Given the description of an element on the screen output the (x, y) to click on. 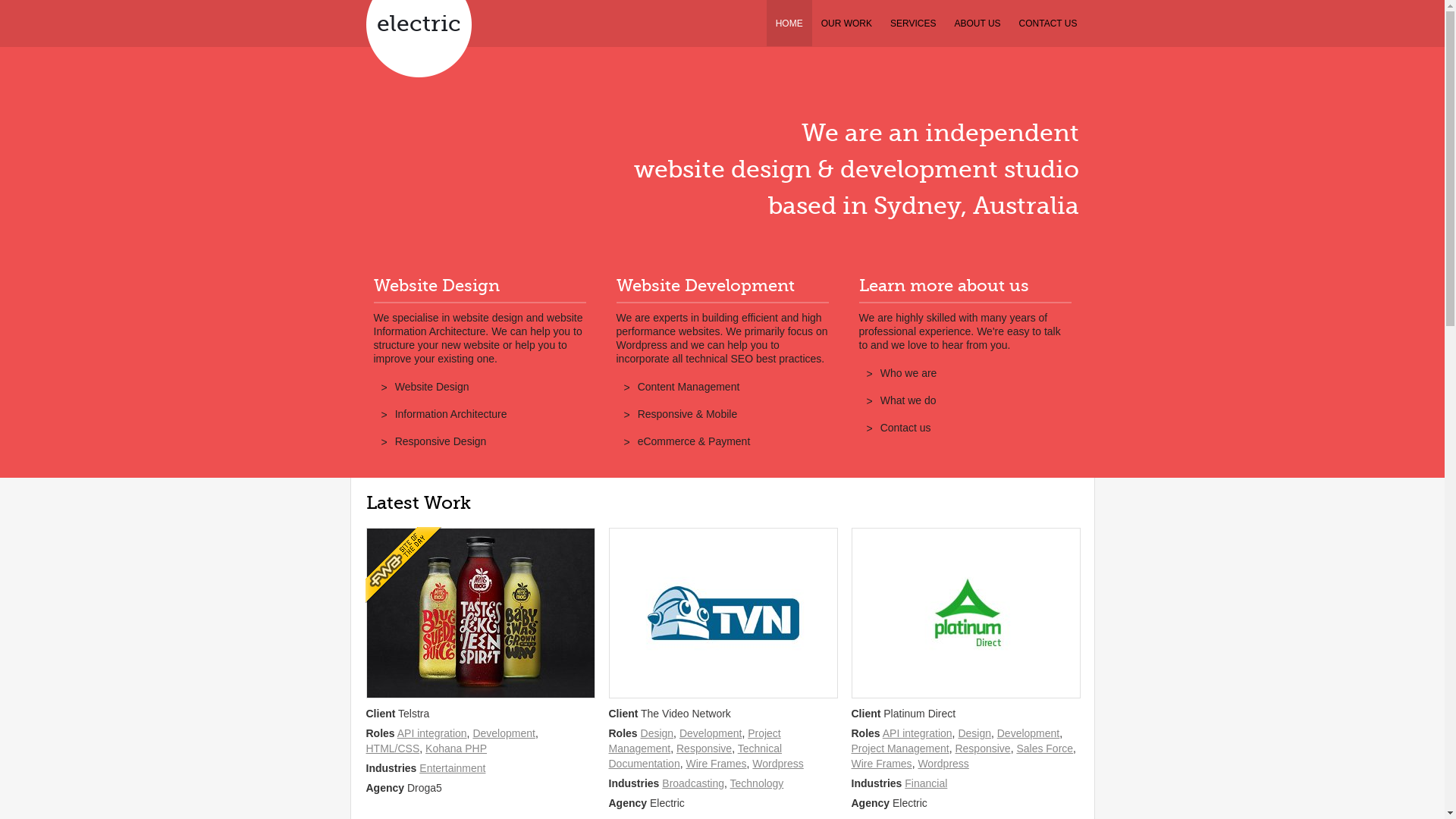
HOME Element type: text (789, 23)
API integration Element type: text (917, 733)
Technical Documentation Element type: text (694, 755)
Development Element type: text (710, 733)
Who we are Element type: text (908, 373)
Project Management Element type: text (899, 748)
API integration Element type: text (432, 733)
Wordpress Element type: text (777, 763)
Financial Element type: text (925, 783)
Contact us Element type: text (905, 427)
Entertainment Element type: text (452, 768)
Project Management Element type: text (694, 740)
Responsive Element type: text (982, 748)
eCommerce & Payment Element type: text (693, 441)
Broadcasting Element type: text (693, 783)
Technology Element type: text (757, 783)
electric Element type: text (418, 23)
Content Management Element type: text (688, 386)
Design Element type: text (974, 733)
Made by MOG Element type: hover (479, 612)
ABOUT US Element type: text (976, 23)
Responsive Element type: text (703, 748)
OUR WORK Element type: text (846, 23)
Responsive Design Element type: text (440, 441)
The Video Network Element type: hover (722, 612)
CONTACT US Element type: text (1048, 23)
Responsive & Mobile Element type: text (687, 413)
What we do Element type: text (908, 400)
Platinum Direct Element type: hover (964, 612)
Wordpress Element type: text (942, 763)
Website Design Element type: text (432, 386)
Sales Force Element type: text (1044, 748)
Development Element type: text (1028, 733)
Design Element type: text (657, 733)
Wire Frames Element type: text (715, 763)
HTML/CSS Element type: text (392, 748)
Development Element type: text (503, 733)
Information Architecture Element type: text (451, 413)
SERVICES Element type: text (912, 23)
Wire Frames Element type: text (880, 763)
Kohana PHP Element type: text (455, 748)
